Given the description of an element on the screen output the (x, y) to click on. 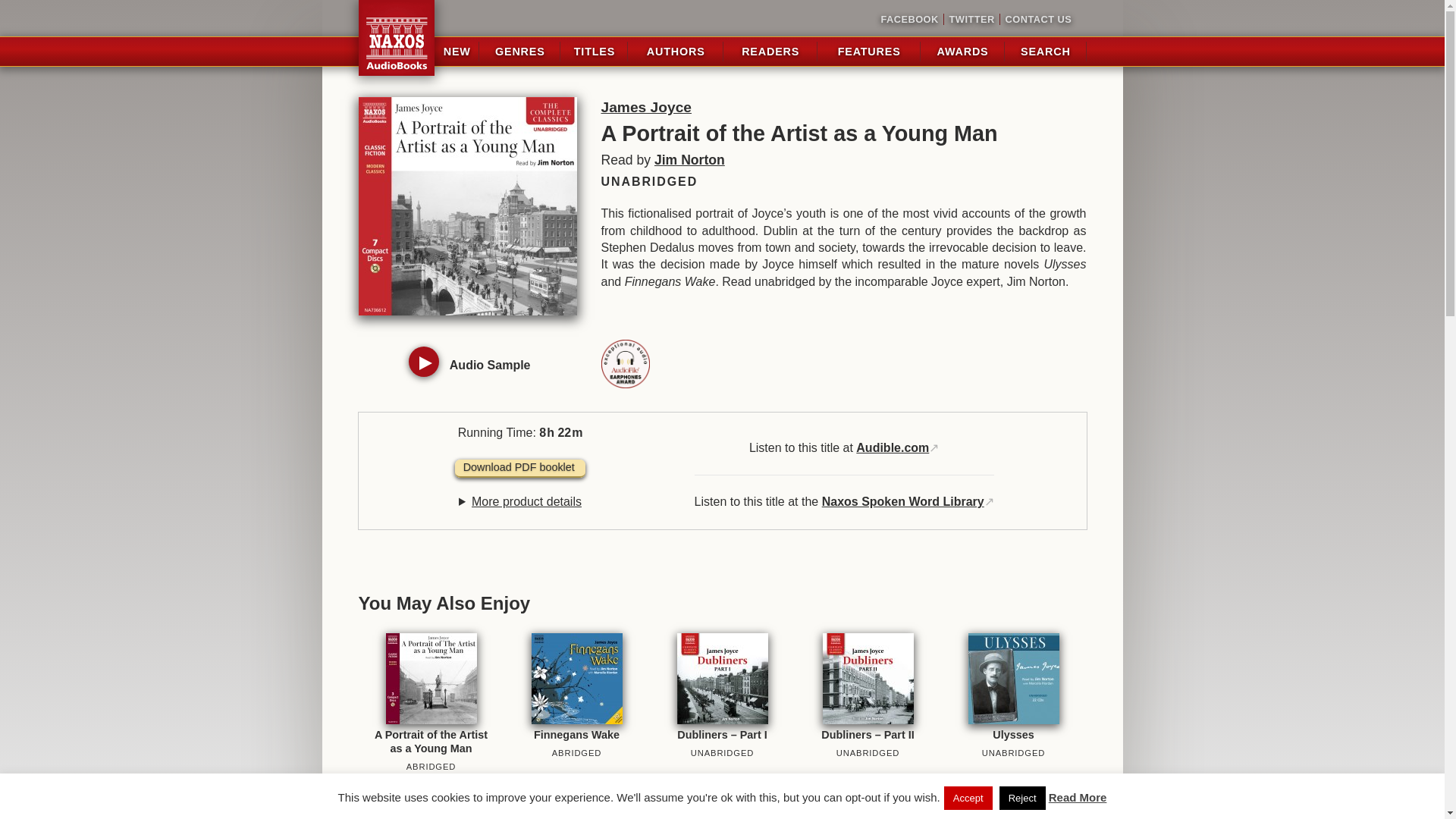
James Joyce (644, 107)
TITLES (593, 51)
Naxos Spoken Word Library (903, 501)
Jim Norton (689, 159)
SEARCH (1045, 51)
Audible.com (892, 447)
TWITTER (970, 19)
FACEBOOK (909, 19)
AWARDS (962, 51)
AUTHORS (675, 51)
NEW (457, 51)
FEATURES (869, 51)
READERS (770, 51)
Listen at Audible.com (892, 447)
GENRES (519, 51)
